Given the description of an element on the screen output the (x, y) to click on. 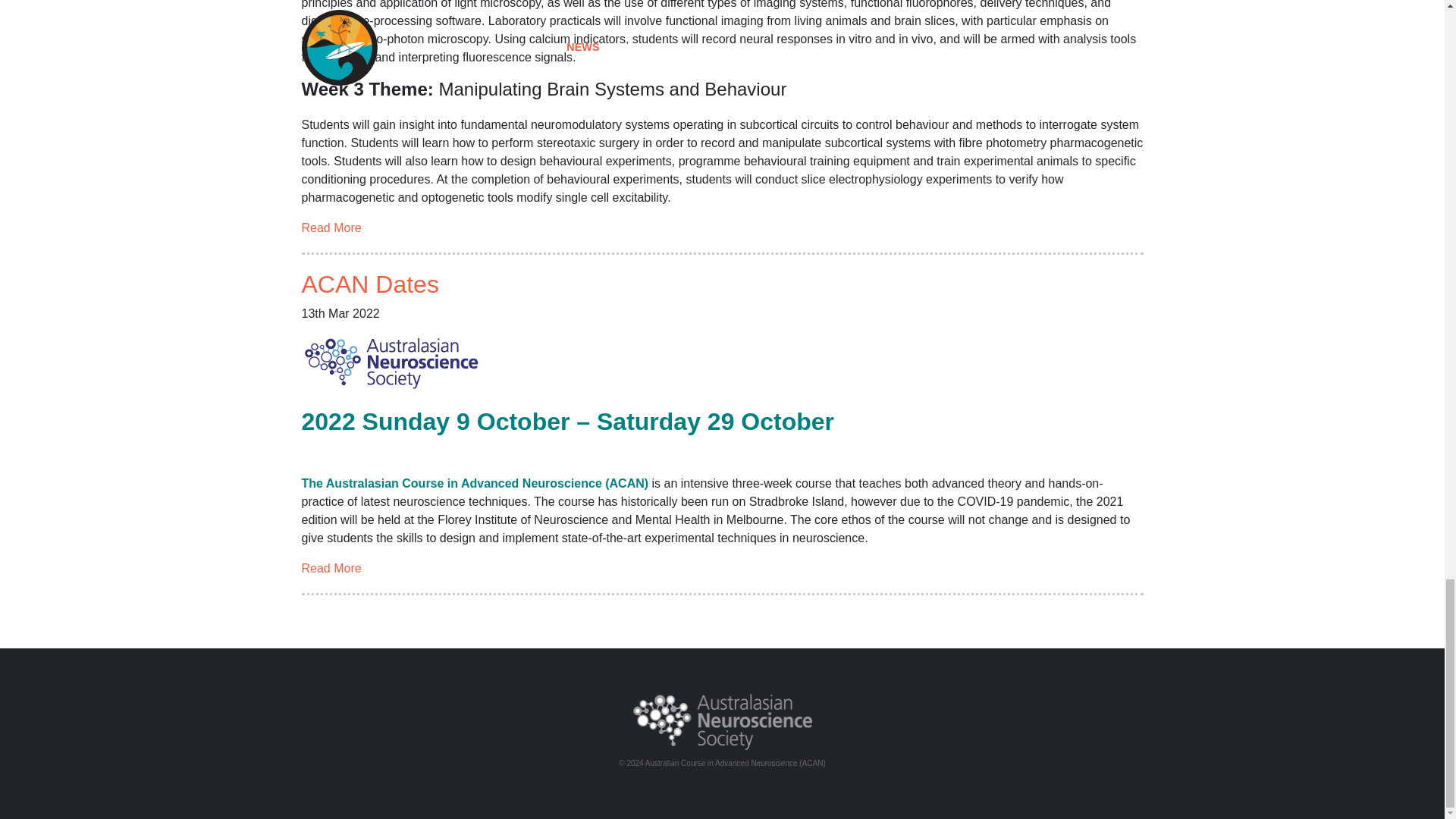
Read More (331, 227)
Read More (331, 567)
Read More (331, 227)
ACAN Dates (370, 284)
Read More (331, 567)
